Given the description of an element on the screen output the (x, y) to click on. 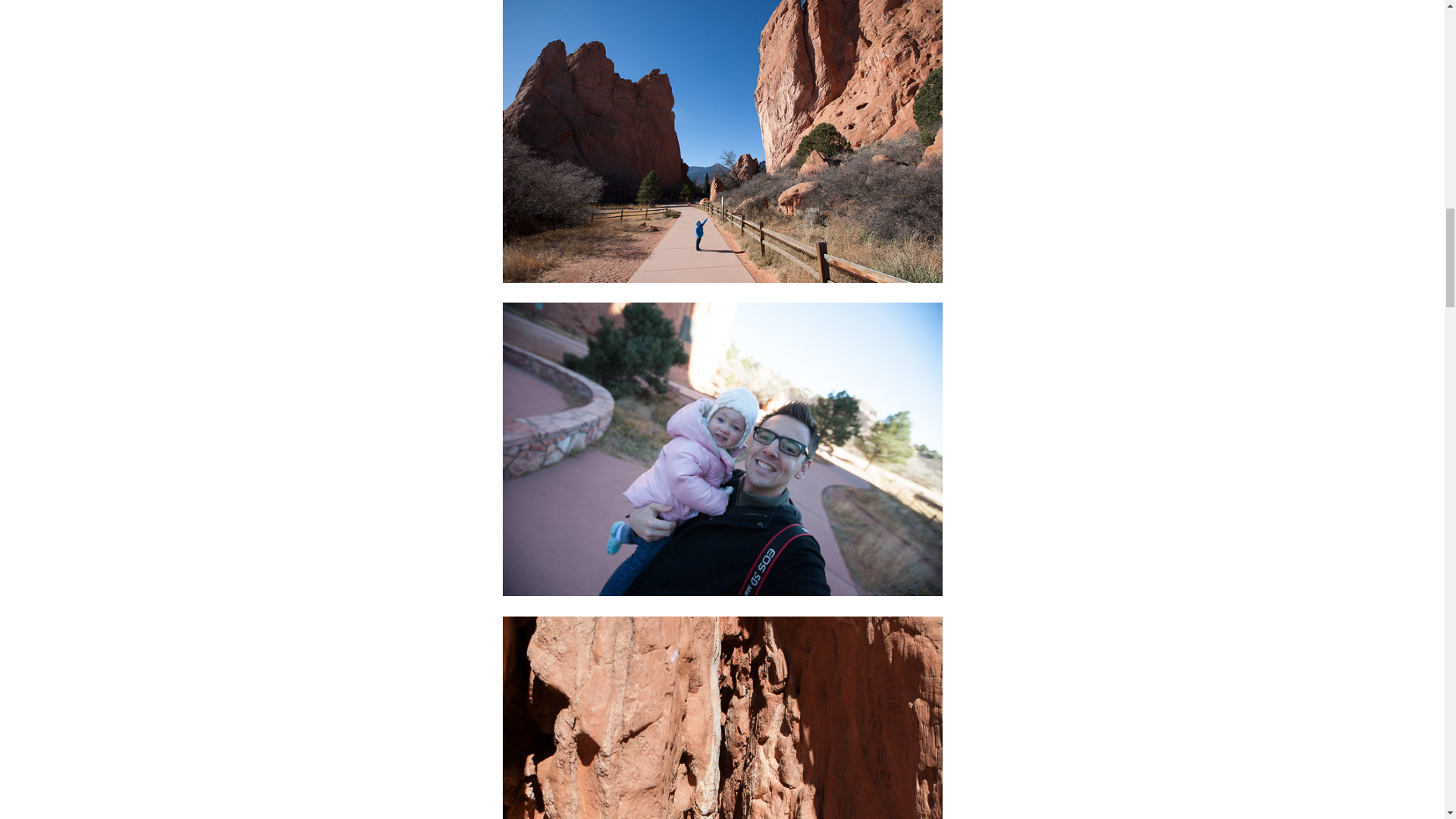
Garden of the Gods by Shay Thomason, on Flickr (722, 141)
Garden of the Gods by Shay Thomason, on Flickr (722, 449)
Garden of the Gods by Shay Thomason, on Flickr (722, 717)
